Given the description of an element on the screen output the (x, y) to click on. 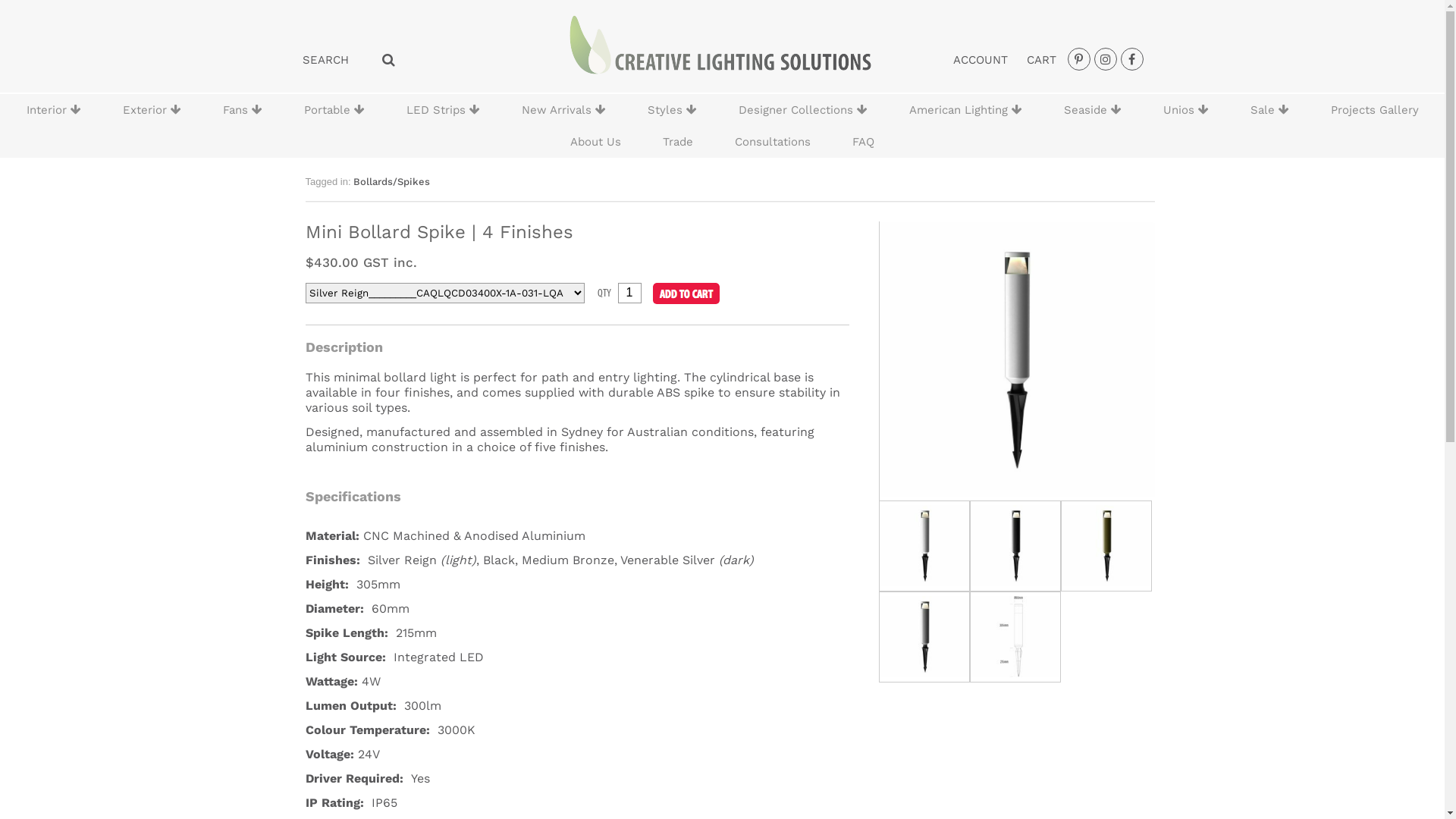
Projects Gallery Element type: text (1374, 109)
Bollards/Spikes Element type: text (391, 181)
Unios Element type: text (1184, 109)
LED Strips Element type: text (442, 109)
Description Element type: text (343, 346)
Sale Element type: text (1269, 109)
New Arrivals Element type: text (563, 109)
FAQ Element type: text (863, 141)
Styles Element type: text (671, 109)
Fans Element type: text (241, 109)
Exterior Element type: text (151, 109)
Consultations Element type: text (772, 141)
Add to cart Element type: text (685, 293)
Portable Element type: text (334, 109)
American Lighting Element type: text (965, 109)
Interior Element type: text (53, 109)
CART Element type: text (1041, 59)
About Us Element type: text (595, 141)
Trade Element type: text (677, 141)
Designer Collections Element type: text (801, 109)
ACCOUNT Element type: text (979, 59)
Seaside Element type: text (1092, 109)
